Given the description of an element on the screen output the (x, y) to click on. 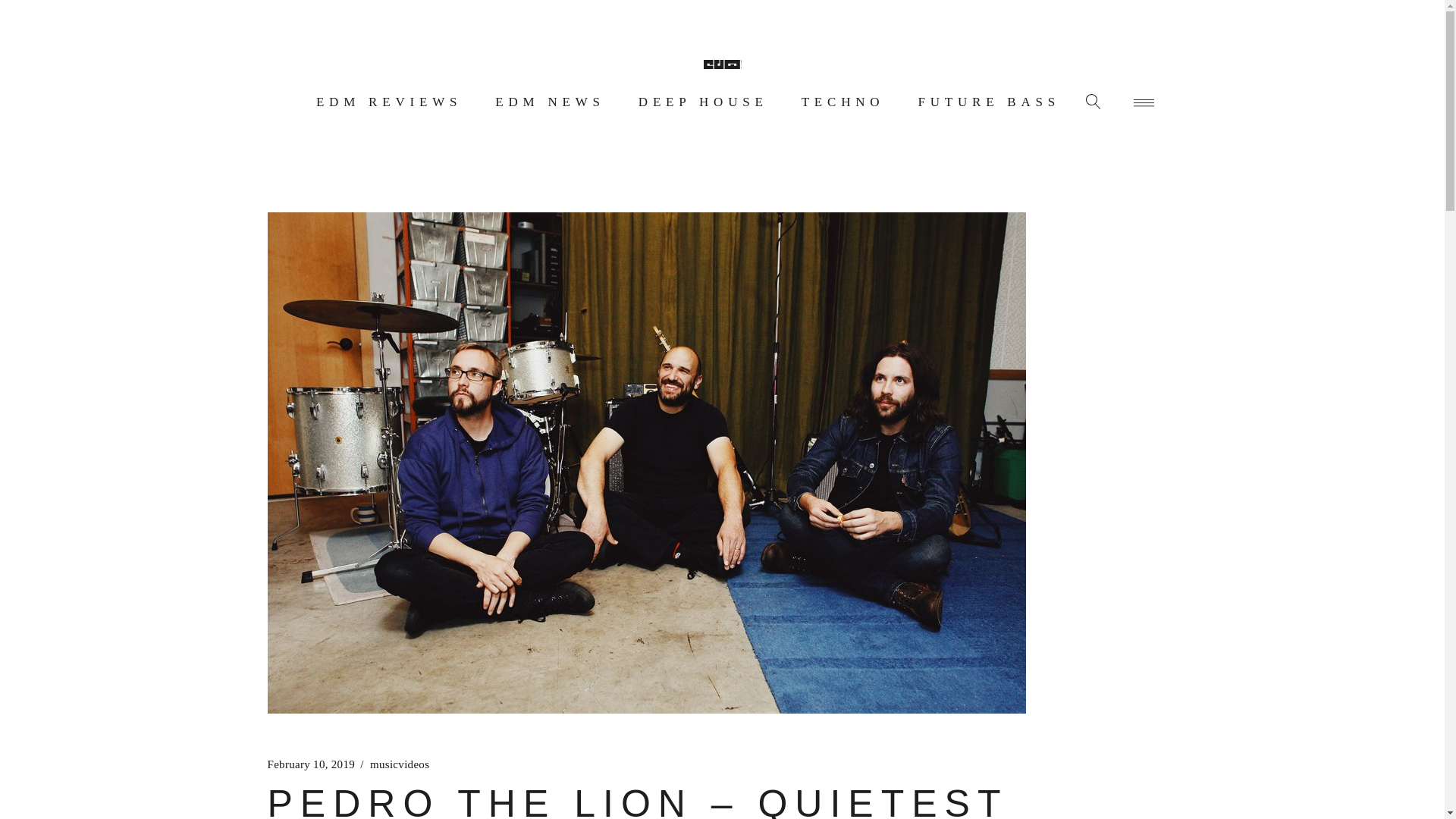
February 10, 2019 (310, 763)
EDM NEWS (549, 101)
FUTURE BASS (988, 101)
DEEP HOUSE (703, 101)
EDM REVIEWS (388, 101)
TECHNO (842, 101)
musicvideos (399, 763)
